Given the description of an element on the screen output the (x, y) to click on. 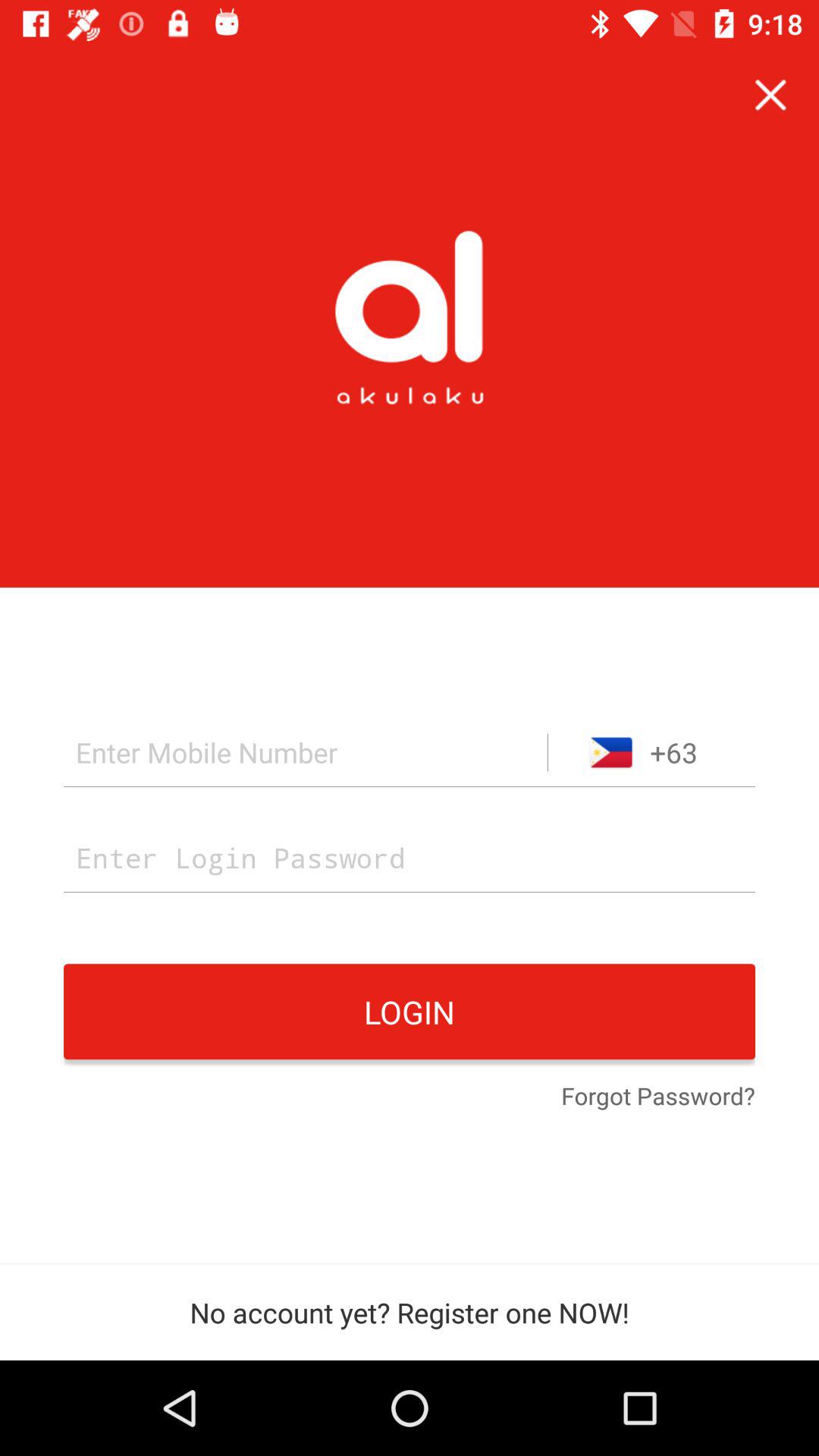
press the item at the top right corner (771, 95)
